Given the description of an element on the screen output the (x, y) to click on. 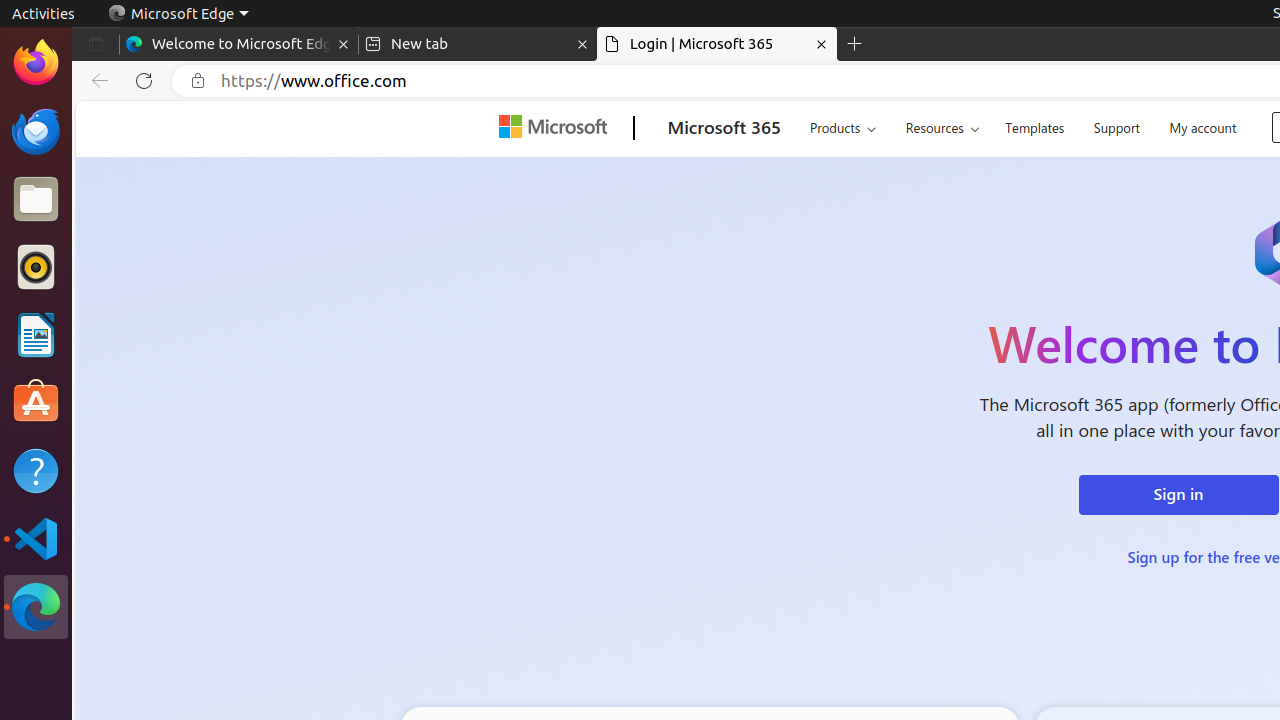
Tab actions menu Element type: push-button (96, 44)
Help Element type: push-button (36, 470)
Login | Microsoft 365 Element type: page-tab (717, 44)
View site information Element type: push-button (198, 81)
Support Element type: link (1116, 126)
